Given the description of an element on the screen output the (x, y) to click on. 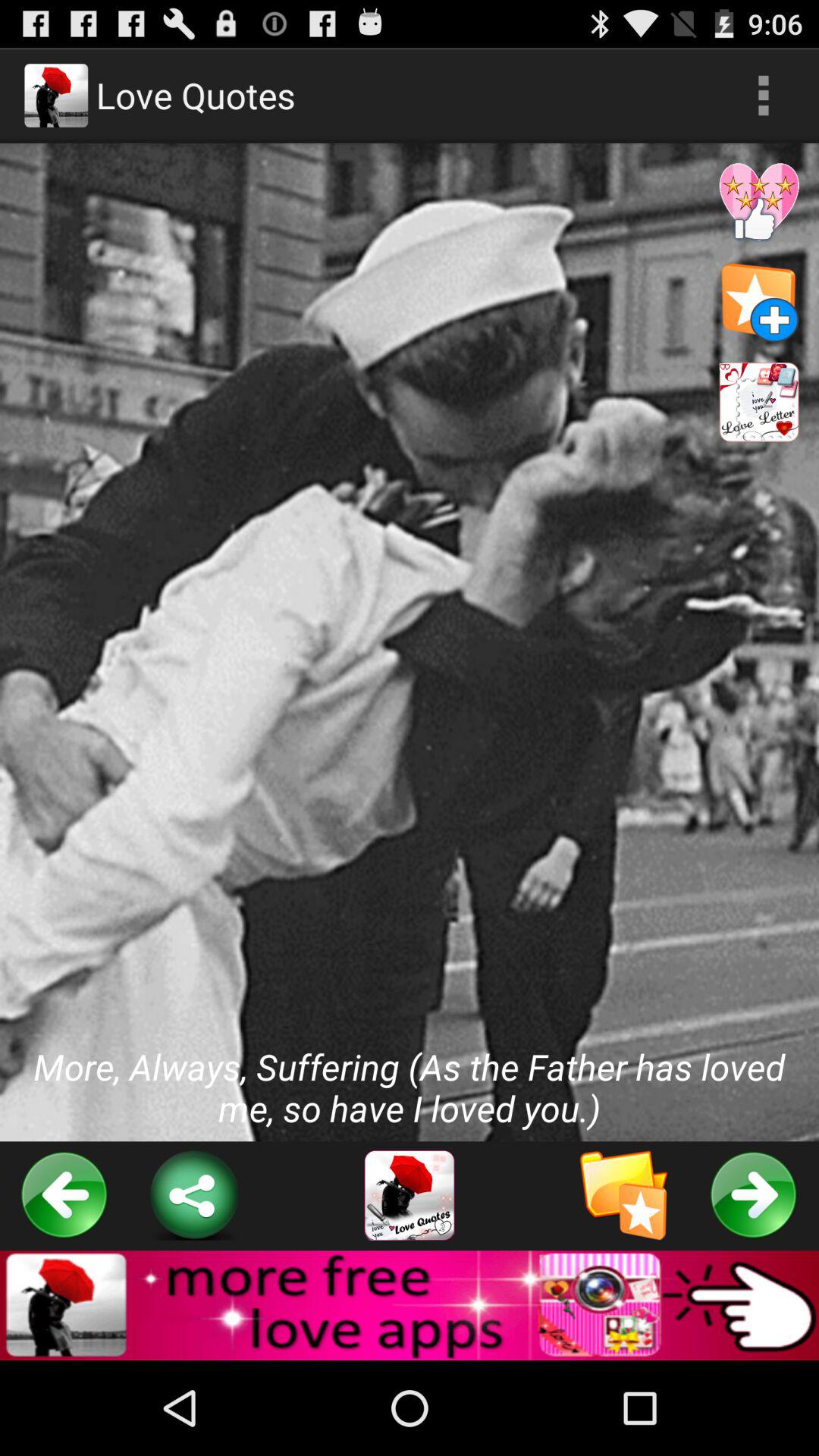
click app to the right of love quotes (763, 95)
